Given the description of an element on the screen output the (x, y) to click on. 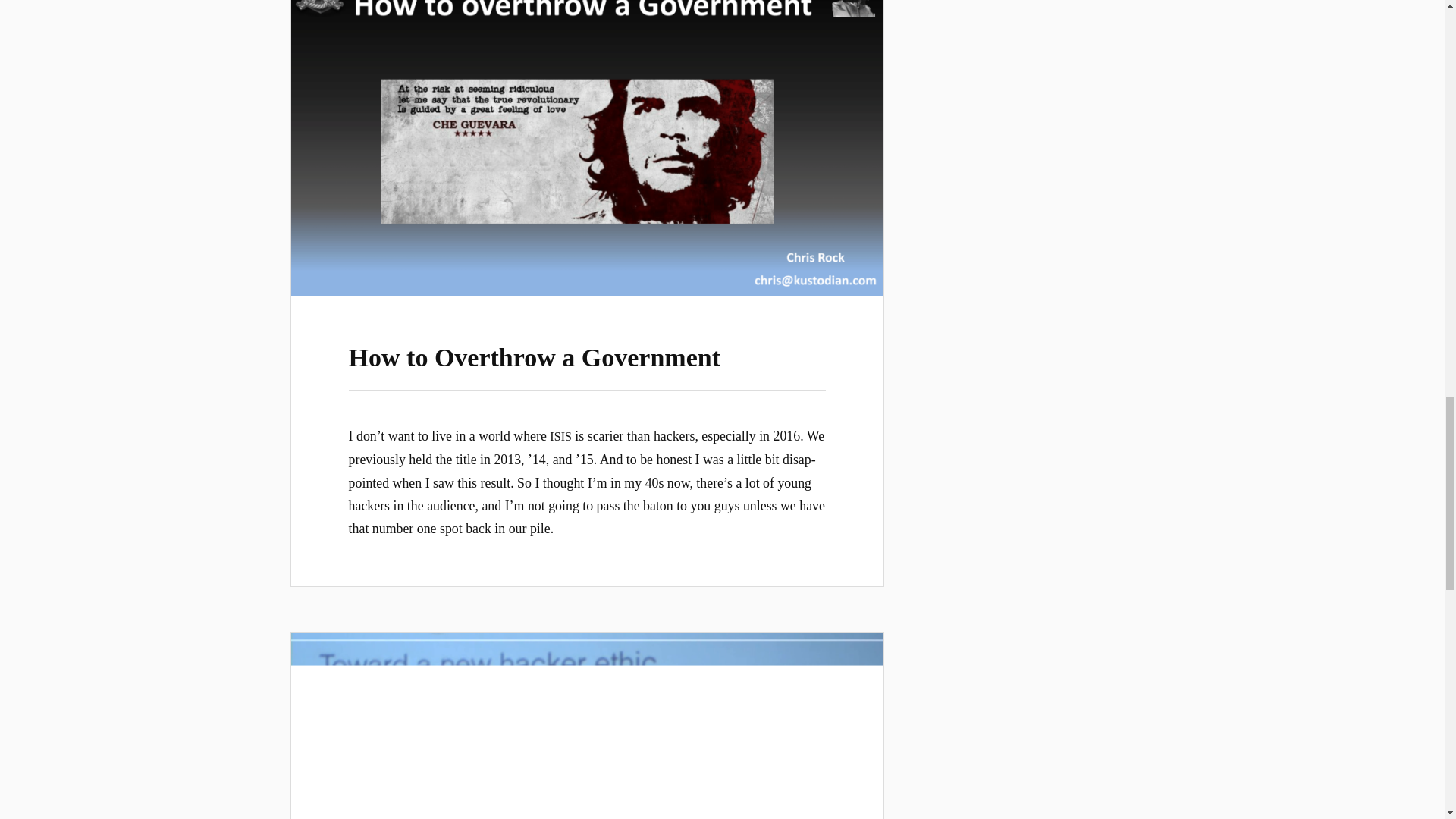
How to Overthrow a Government (534, 357)
